Given the description of an element on the screen output the (x, y) to click on. 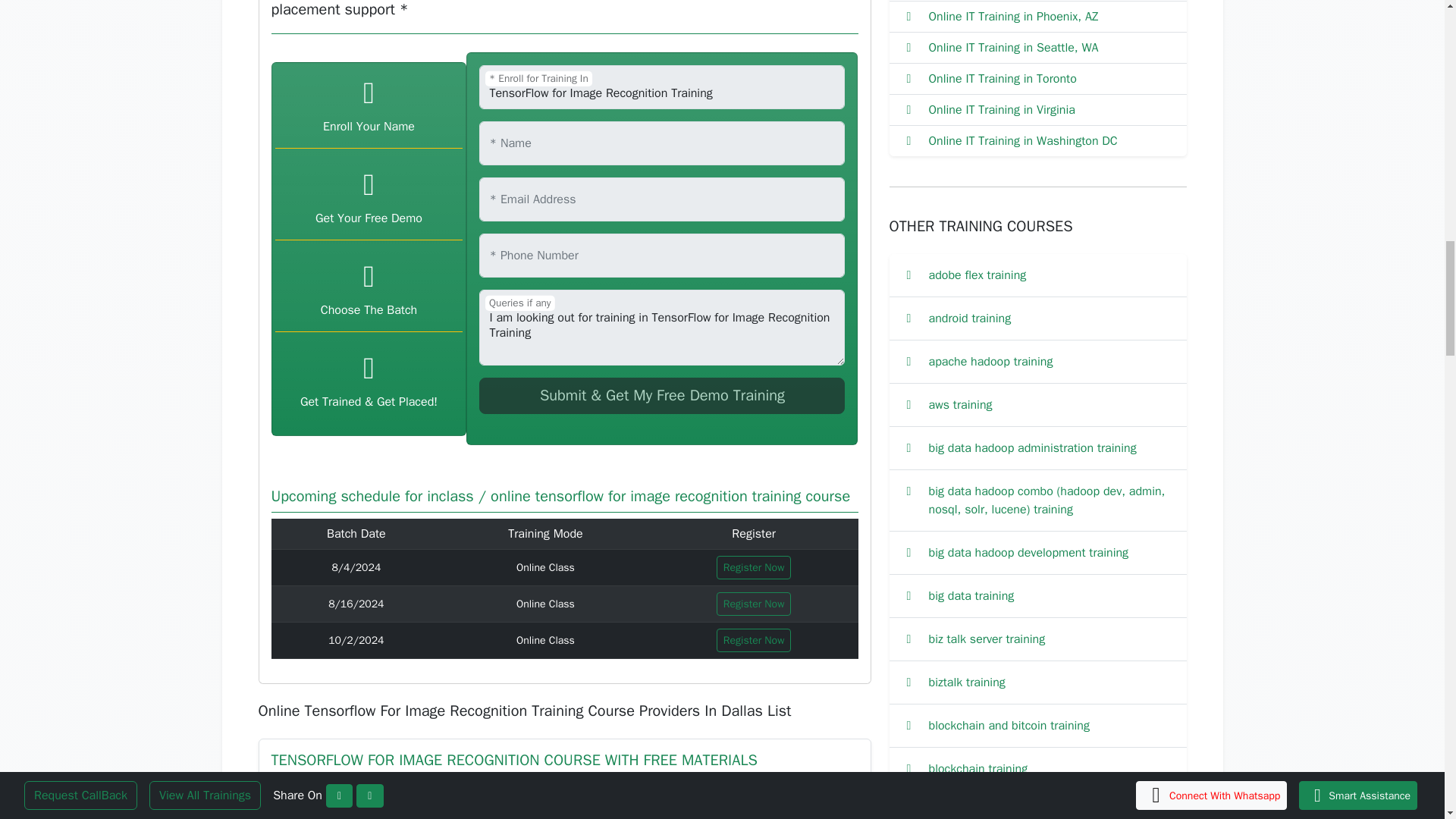
Register Now (754, 603)
Register Now (754, 567)
TensorFlow for Image Recognition Training (661, 86)
TENSORFLOW FOR IMAGE RECOGNITION COURSE WITH FREE MATERIALS (513, 760)
Register Now (754, 639)
